Given the description of an element on the screen output the (x, y) to click on. 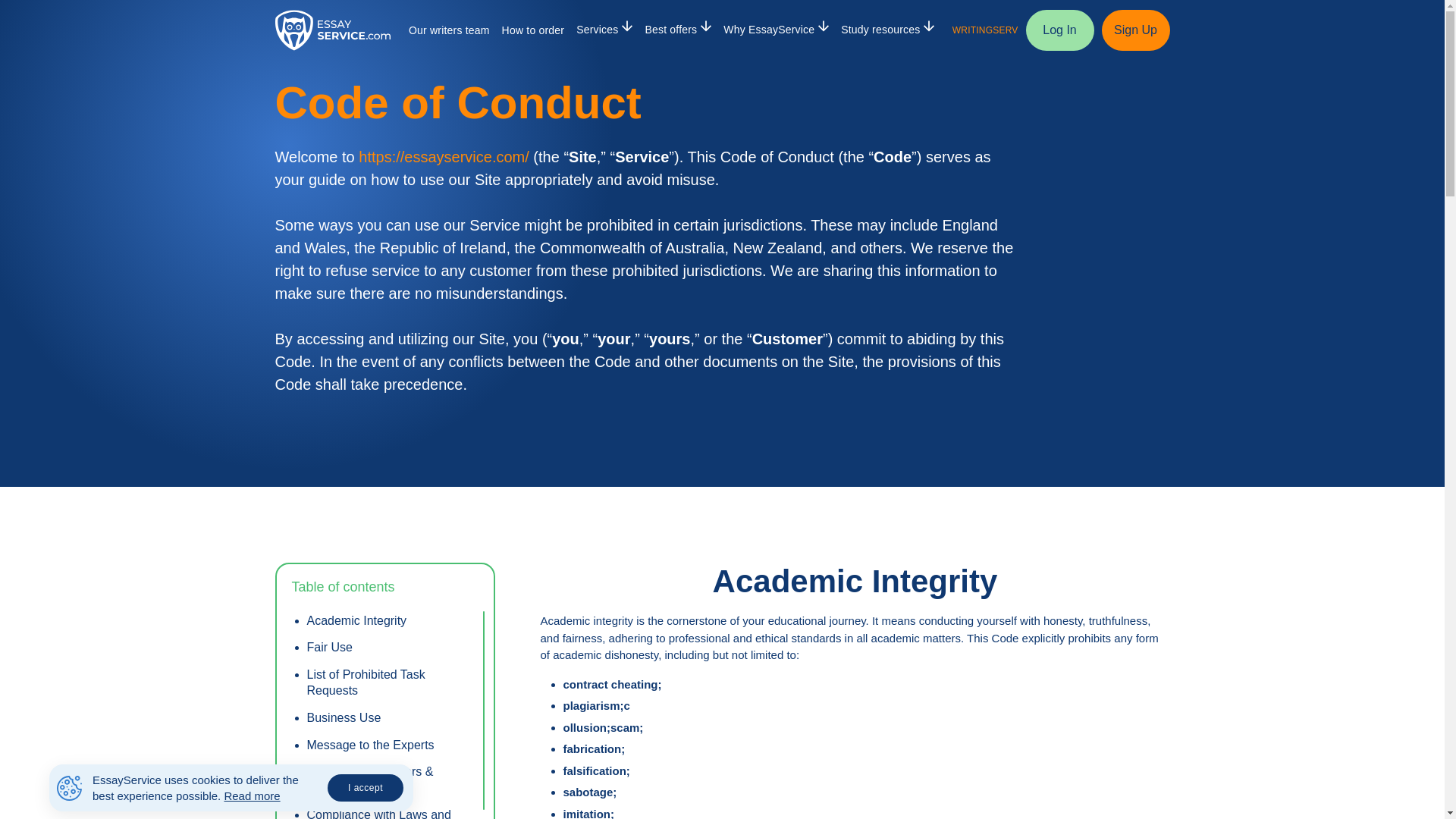
Our writers team (449, 29)
Message to the Experts (389, 745)
Compliance with Laws and Regulations (389, 813)
How to order (533, 29)
List of Prohibited Task Requests (389, 683)
Business Use (389, 718)
Fair Use (389, 647)
Sign Up (1134, 29)
Log In (1059, 29)
Academic Integrity (389, 621)
